Given the description of an element on the screen output the (x, y) to click on. 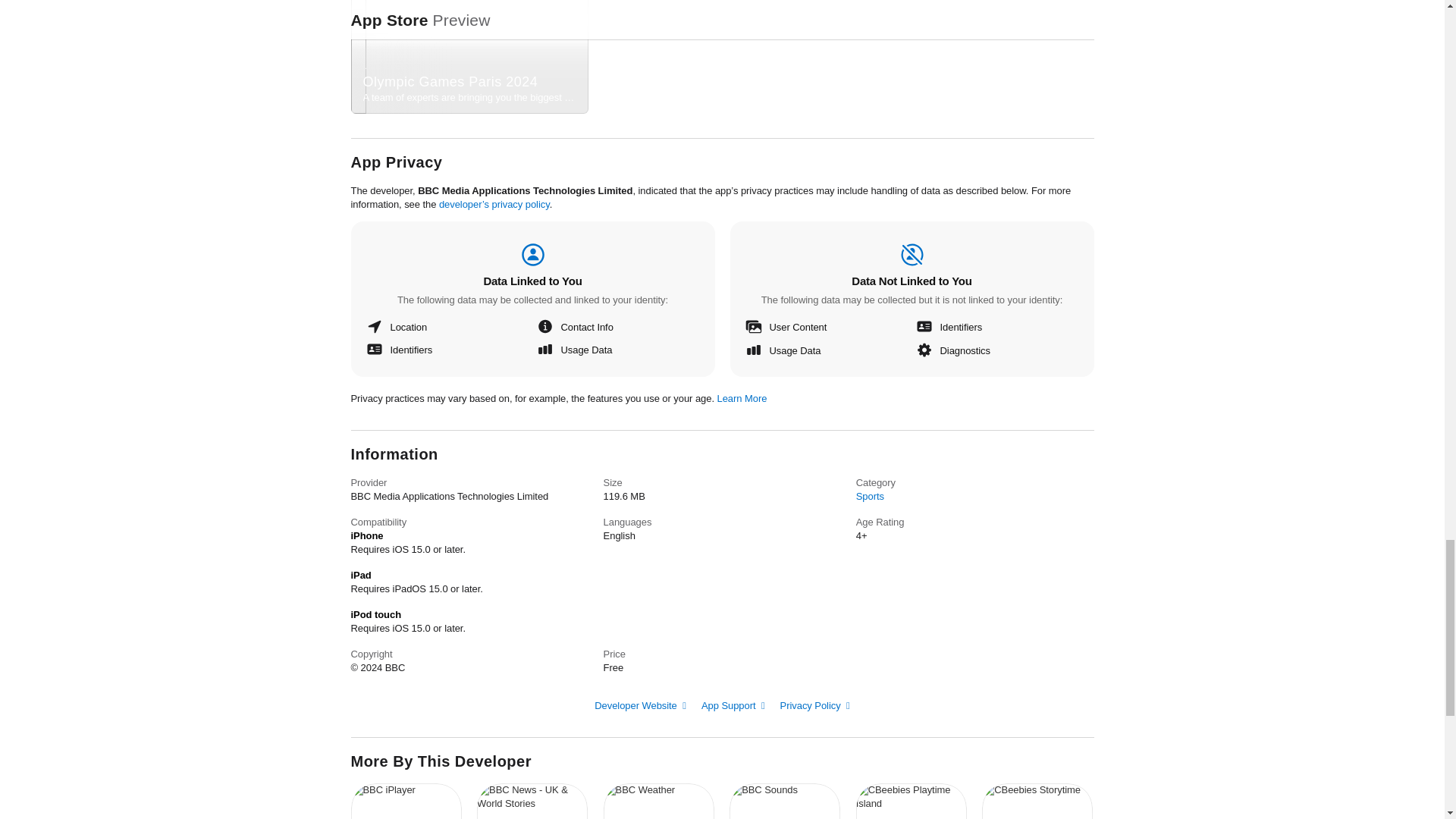
Privacy Policy (1037, 800)
Sports (405, 800)
App Support (815, 705)
Learn More (869, 496)
Developer Website (912, 800)
